Given the description of an element on the screen output the (x, y) to click on. 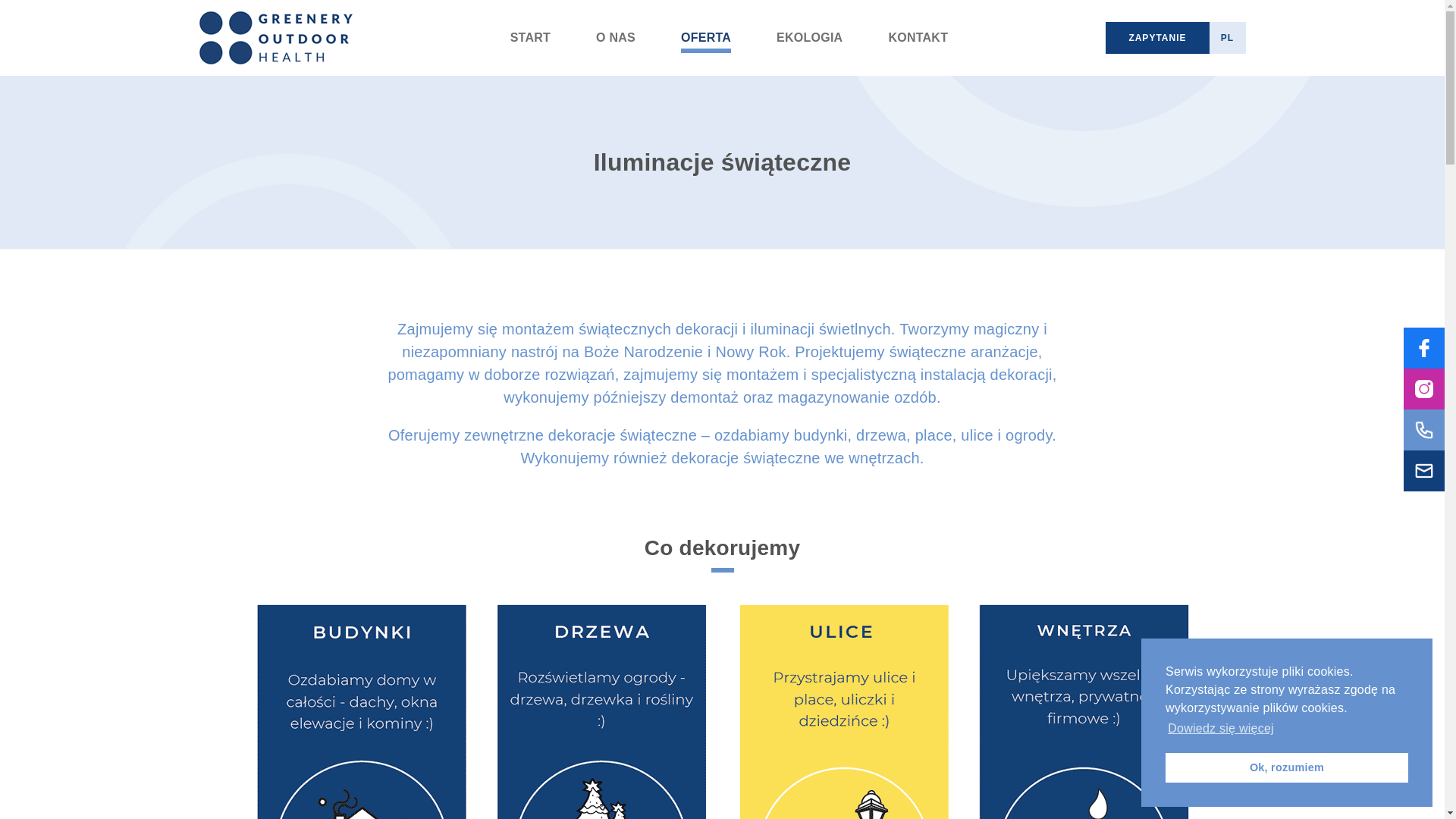
START Element type: text (530, 37)
EKOLOGIA Element type: text (809, 37)
OFERTA Element type: text (705, 37)
O NAS Element type: text (615, 37)
KONTAKT Element type: text (917, 37)
PL Element type: text (1226, 37)
ZAPYTANIE Element type: text (1156, 37)
Ok, rozumiem Element type: text (1286, 767)
